Given the description of an element on the screen output the (x, y) to click on. 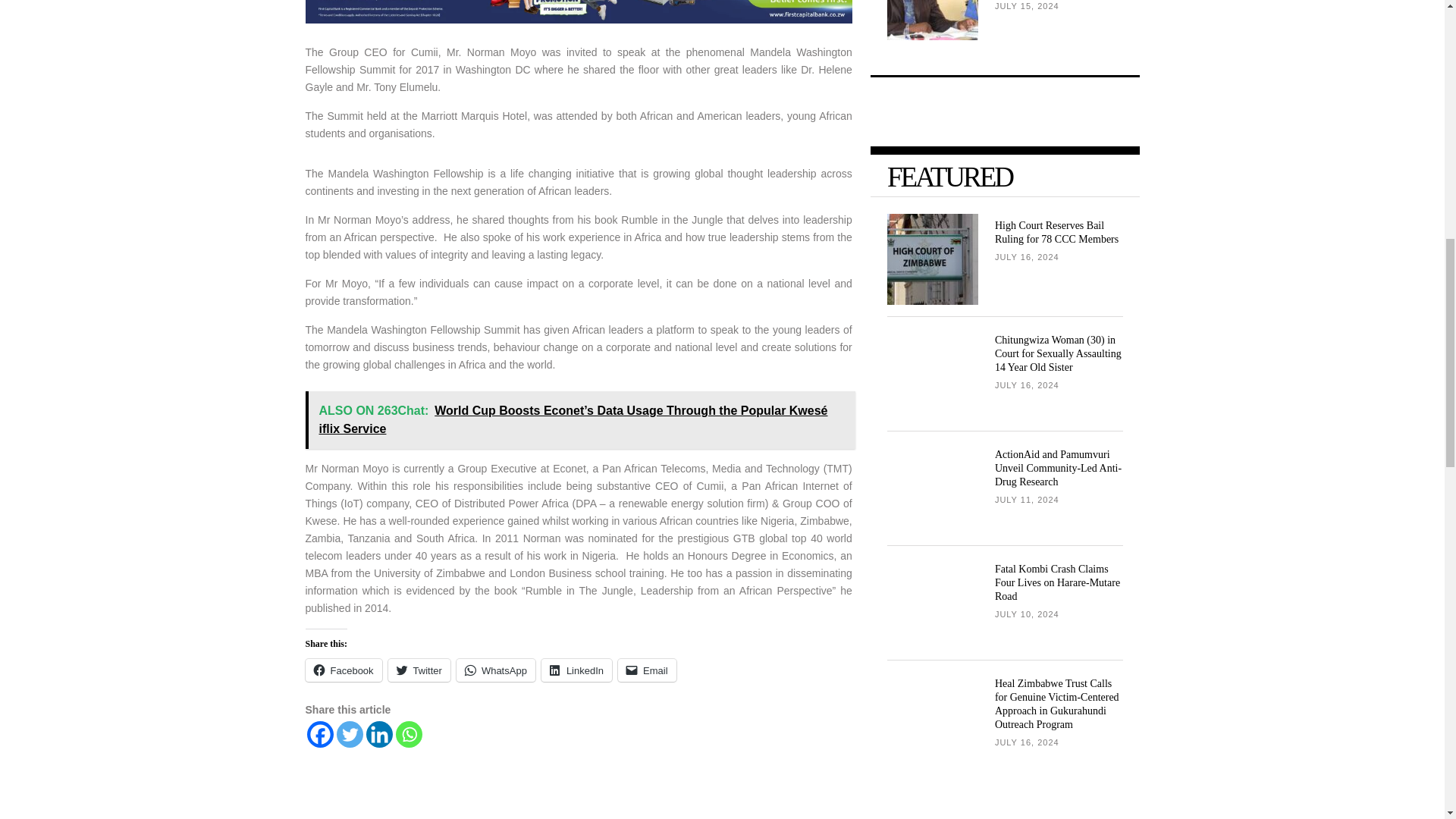
Whatsapp (409, 734)
Click to share on WhatsApp (496, 670)
Linkedin (378, 734)
Click to share on Facebook (342, 670)
Twitter (349, 734)
Facebook (319, 734)
Click to email a link to a friend (647, 670)
Click to share on Twitter (418, 670)
Click to share on LinkedIn (576, 670)
